Given the description of an element on the screen output the (x, y) to click on. 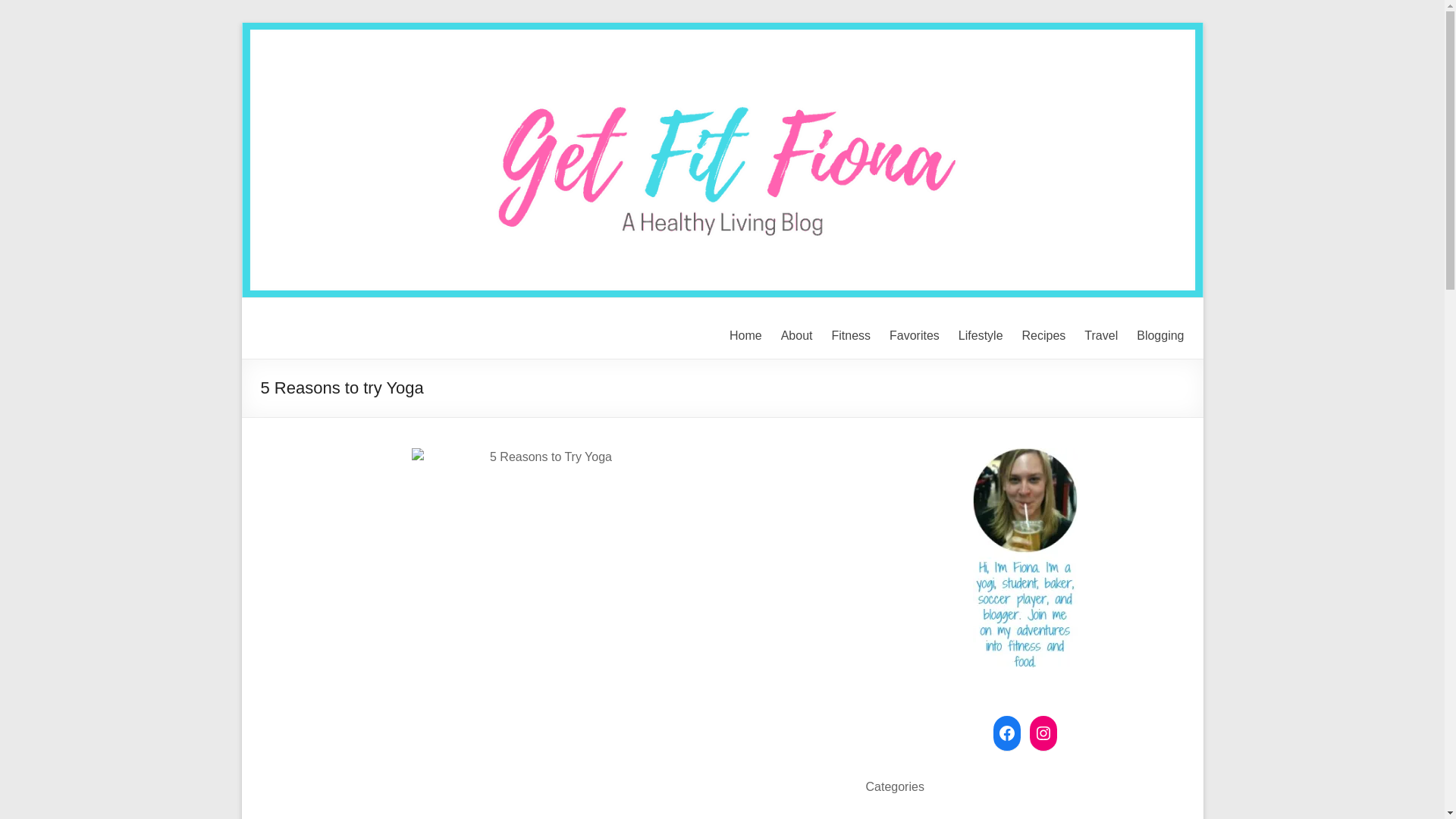
Recipes (1043, 335)
Blogging (1160, 335)
Fitness (850, 335)
Travel (1101, 335)
Instagram (1043, 732)
Get Fit Fiona (339, 329)
About (796, 335)
Facebook (1006, 732)
Lifestyle (980, 335)
Favorites (914, 335)
Home (745, 335)
Get Fit Fiona (339, 329)
